Given the description of an element on the screen output the (x, y) to click on. 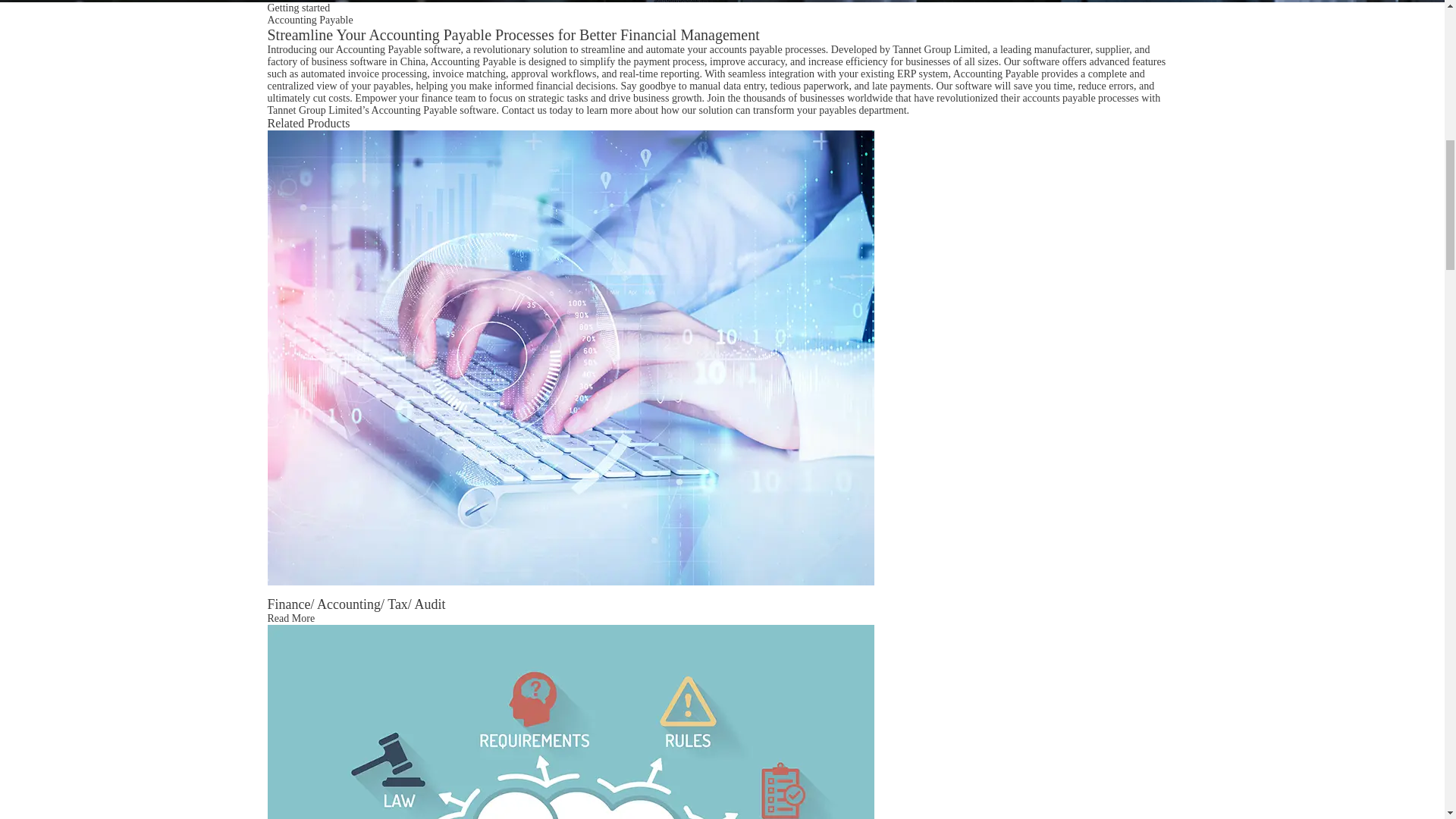
Getting started (298, 7)
Read More (290, 618)
Accounting Payable (309, 19)
